Given the description of an element on the screen output the (x, y) to click on. 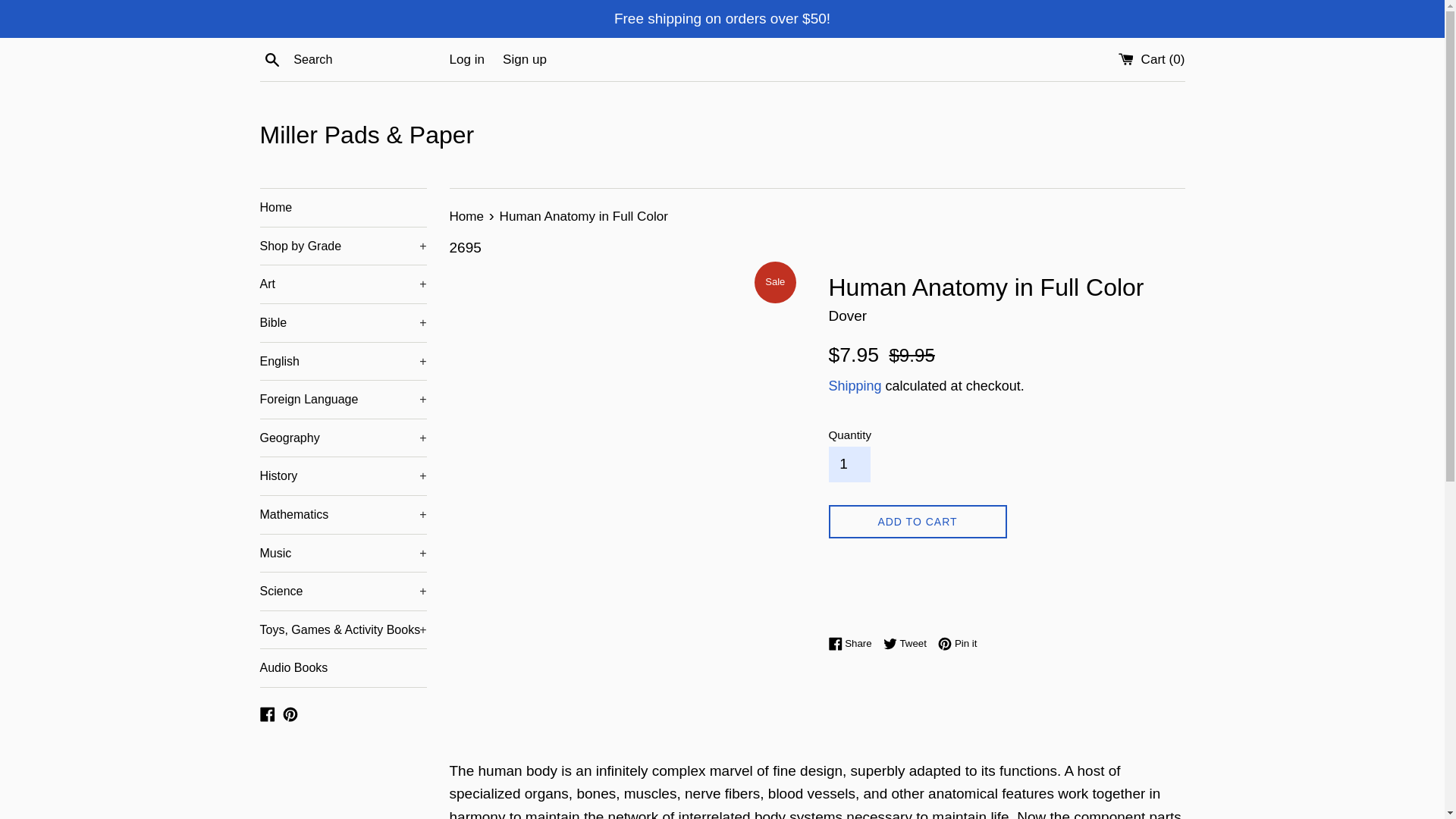
1 (848, 463)
Share on Facebook (853, 643)
Pin on Pinterest (956, 643)
Search (271, 58)
Sign up (524, 59)
Home (342, 207)
Tweet on Twitter (908, 643)
Back to the frontpage (467, 216)
Log in (466, 59)
